Given the description of an element on the screen output the (x, y) to click on. 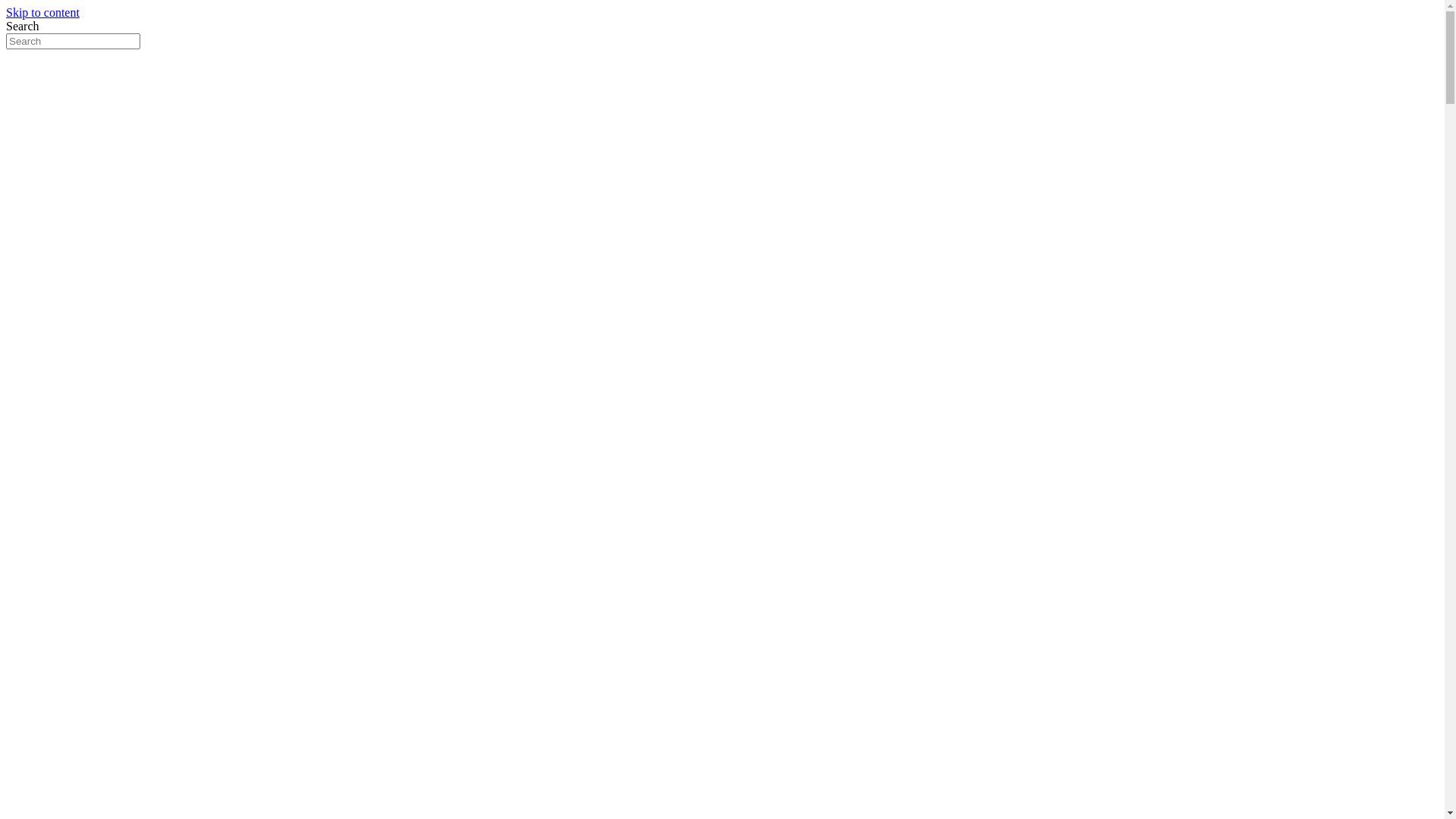
Skip to content Element type: text (42, 12)
Search Element type: hover (73, 41)
